Given the description of an element on the screen output the (x, y) to click on. 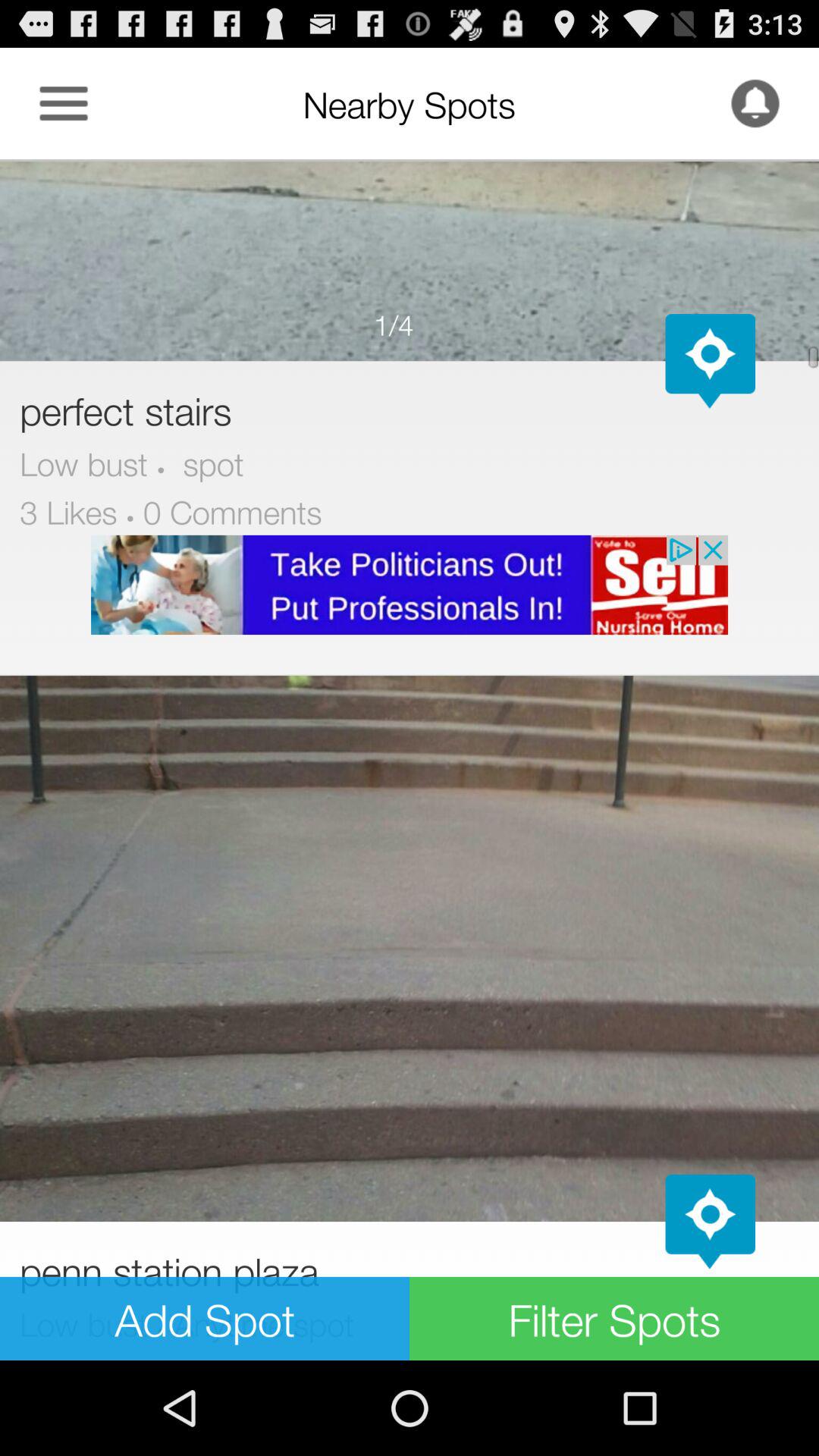
box the image area (409, 260)
